Given the description of an element on the screen output the (x, y) to click on. 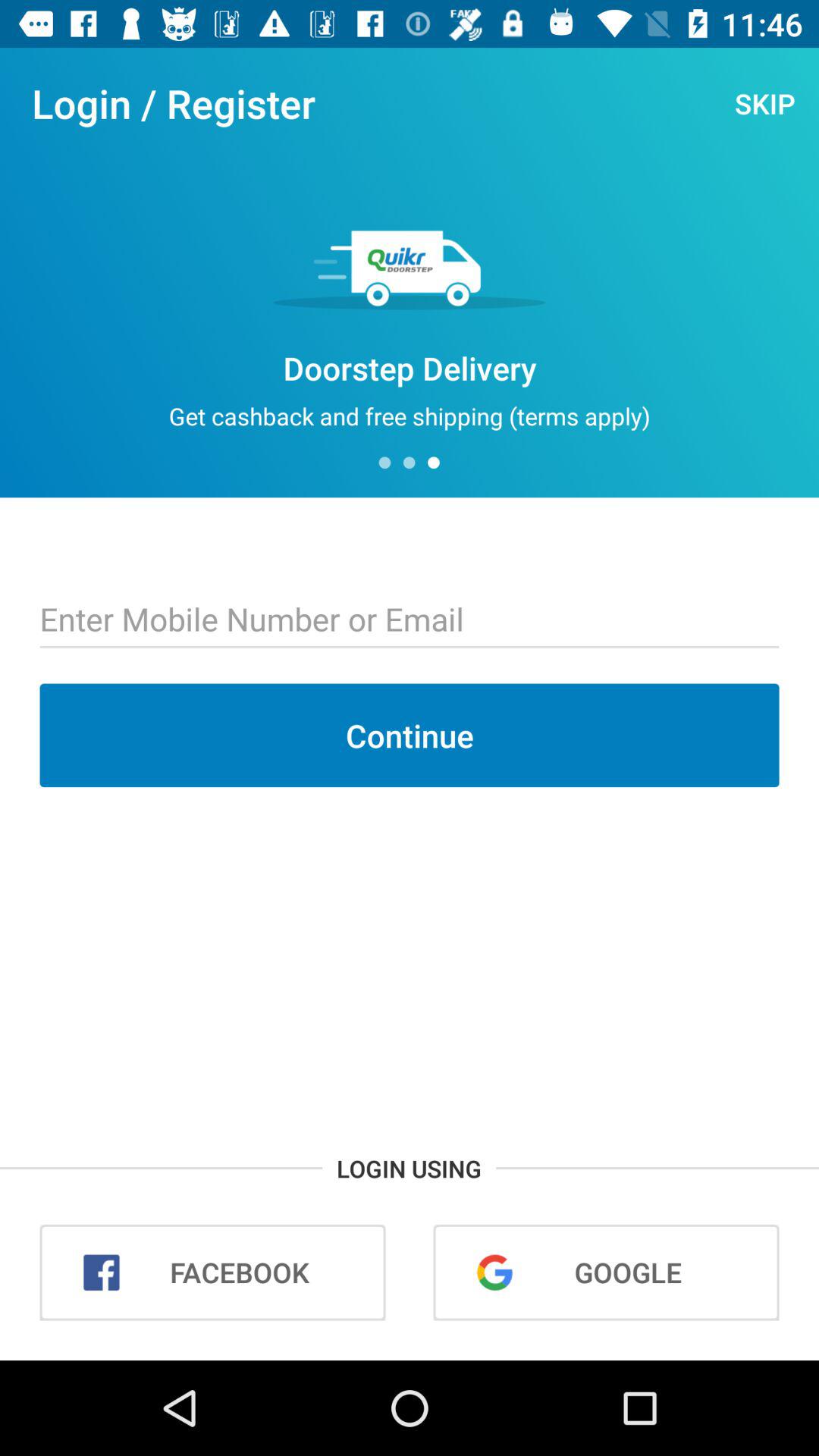
input box (409, 620)
